Given the description of an element on the screen output the (x, y) to click on. 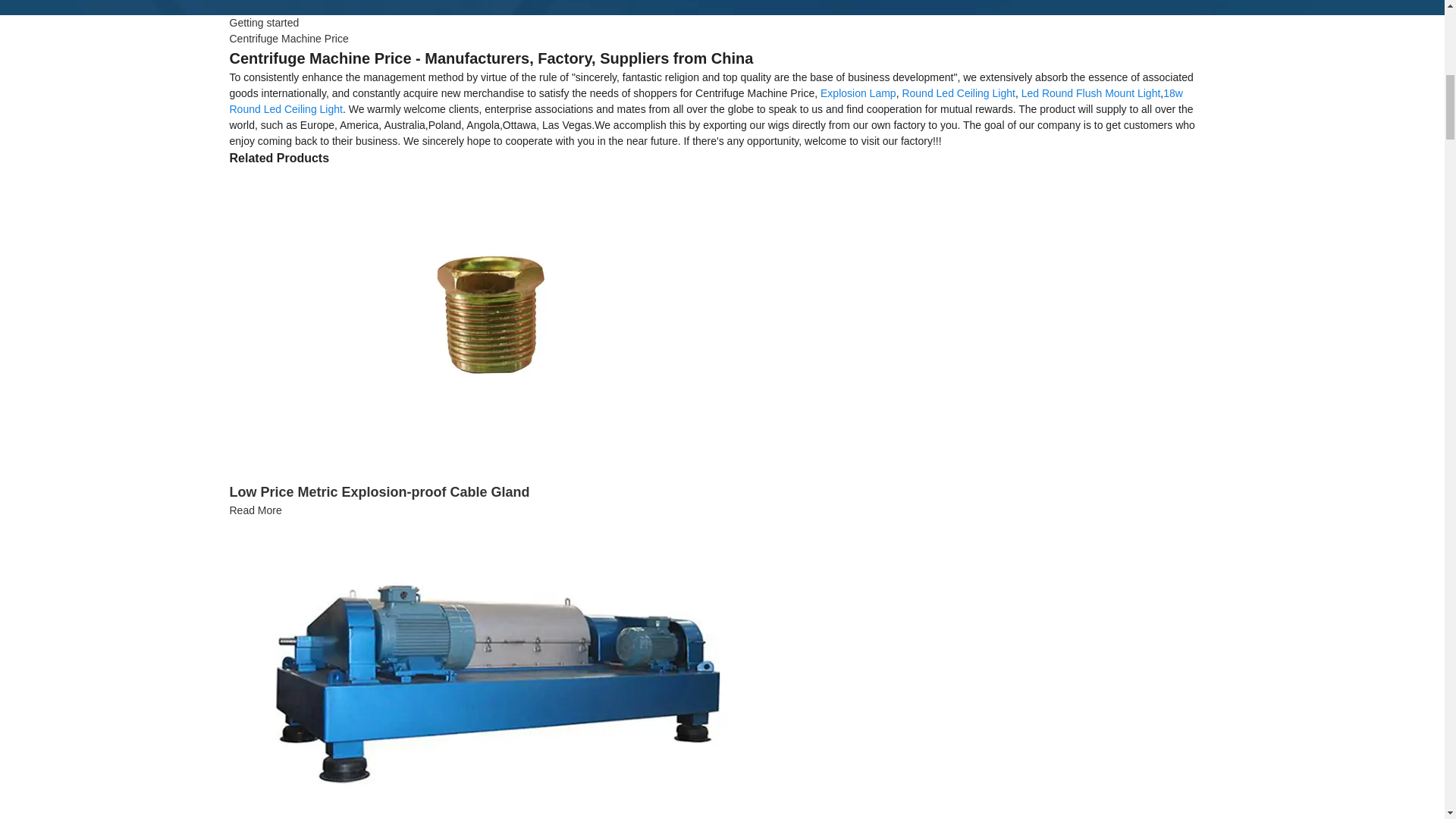
Low Price Metric Explosion-proof Cable Gland (254, 510)
Low Price Metric Explosion-proof Cable Gland (378, 491)
Round Led Ceiling Light (957, 92)
18w Round Led Ceiling Light (705, 100)
Centrifuge Machine Price (287, 38)
Read More (254, 510)
Explosion Lamp (858, 92)
Led Round Flush Mount Light (1091, 92)
Low Price Metric Explosion-proof Cable Gland (486, 317)
Innovative Decanter Centrifuge (486, 668)
